Given the description of an element on the screen output the (x, y) to click on. 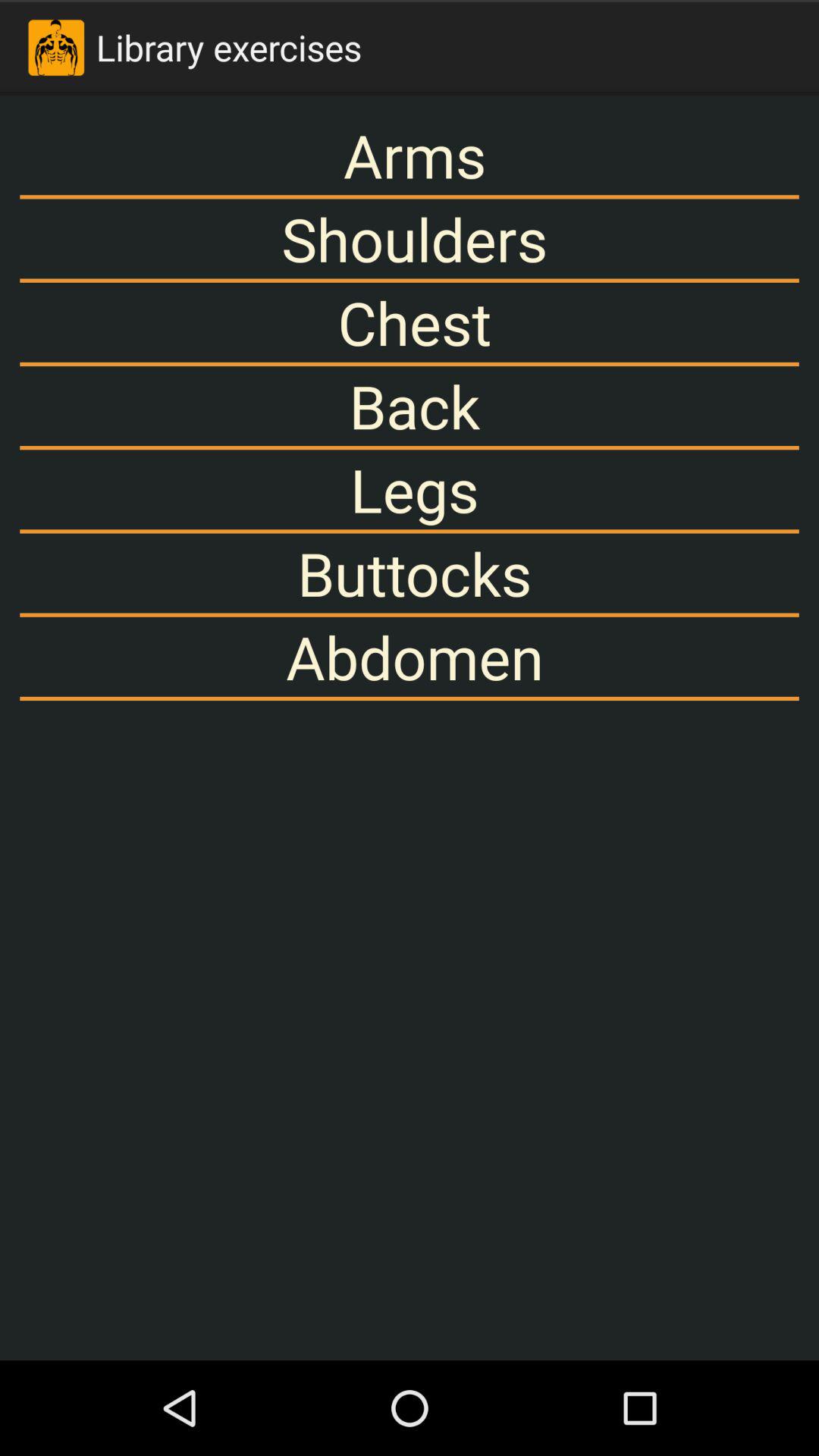
jump to arms app (409, 155)
